Given the description of an element on the screen output the (x, y) to click on. 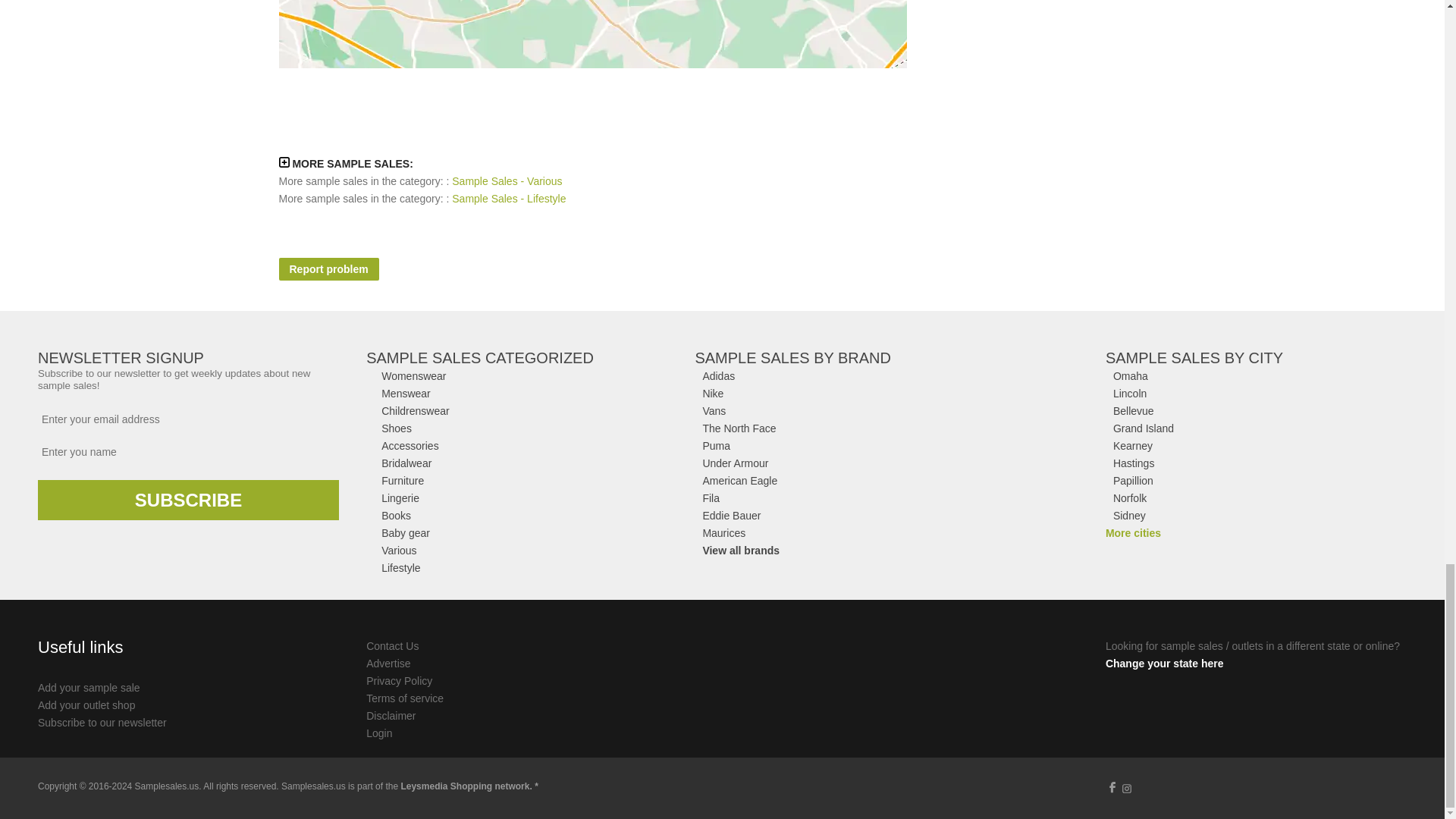
Enter you name (188, 452)
Enter your email address (188, 419)
